Given the description of an element on the screen output the (x, y) to click on. 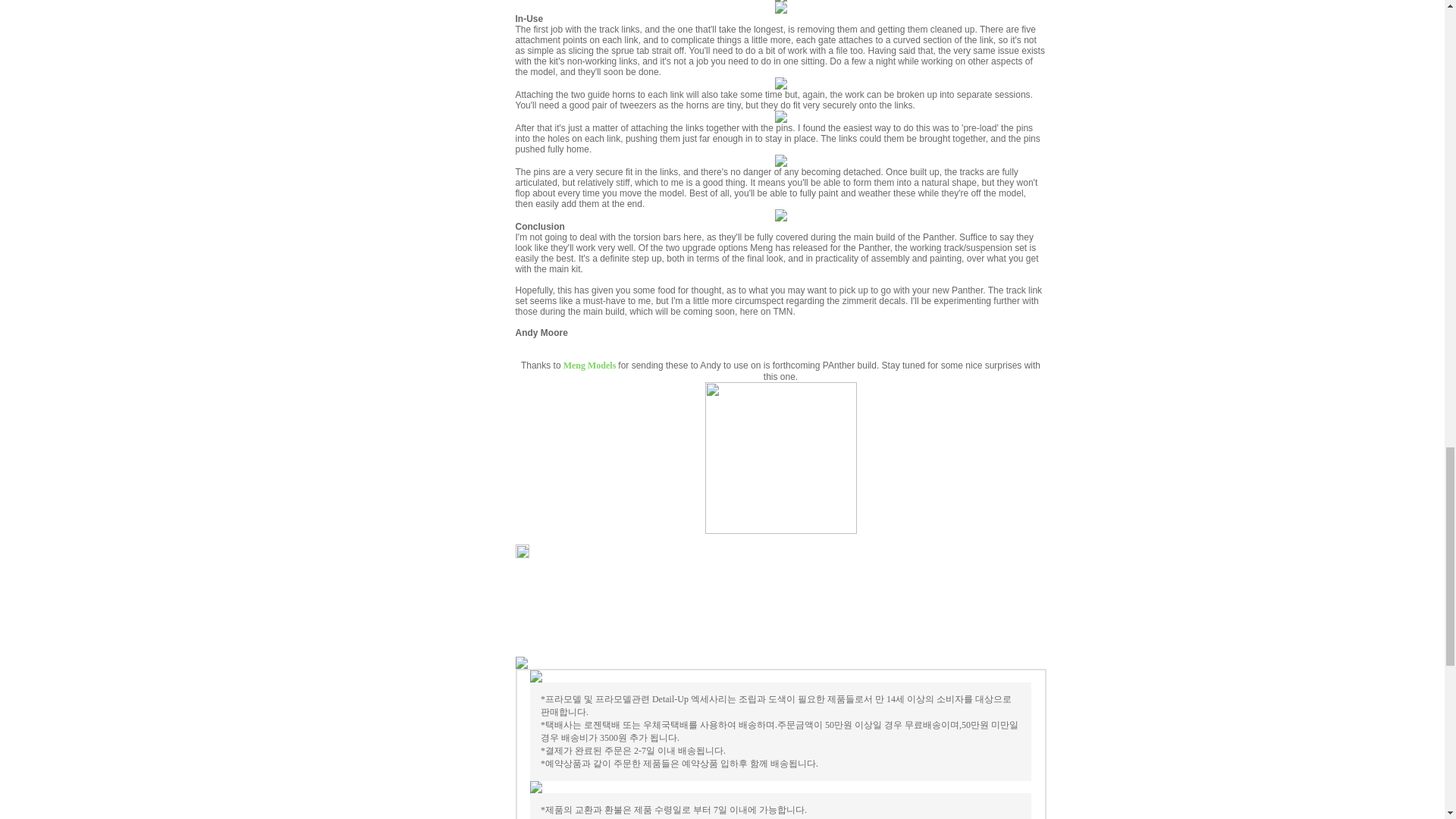
Edit Post (522, 554)
